Given the description of an element on the screen output the (x, y) to click on. 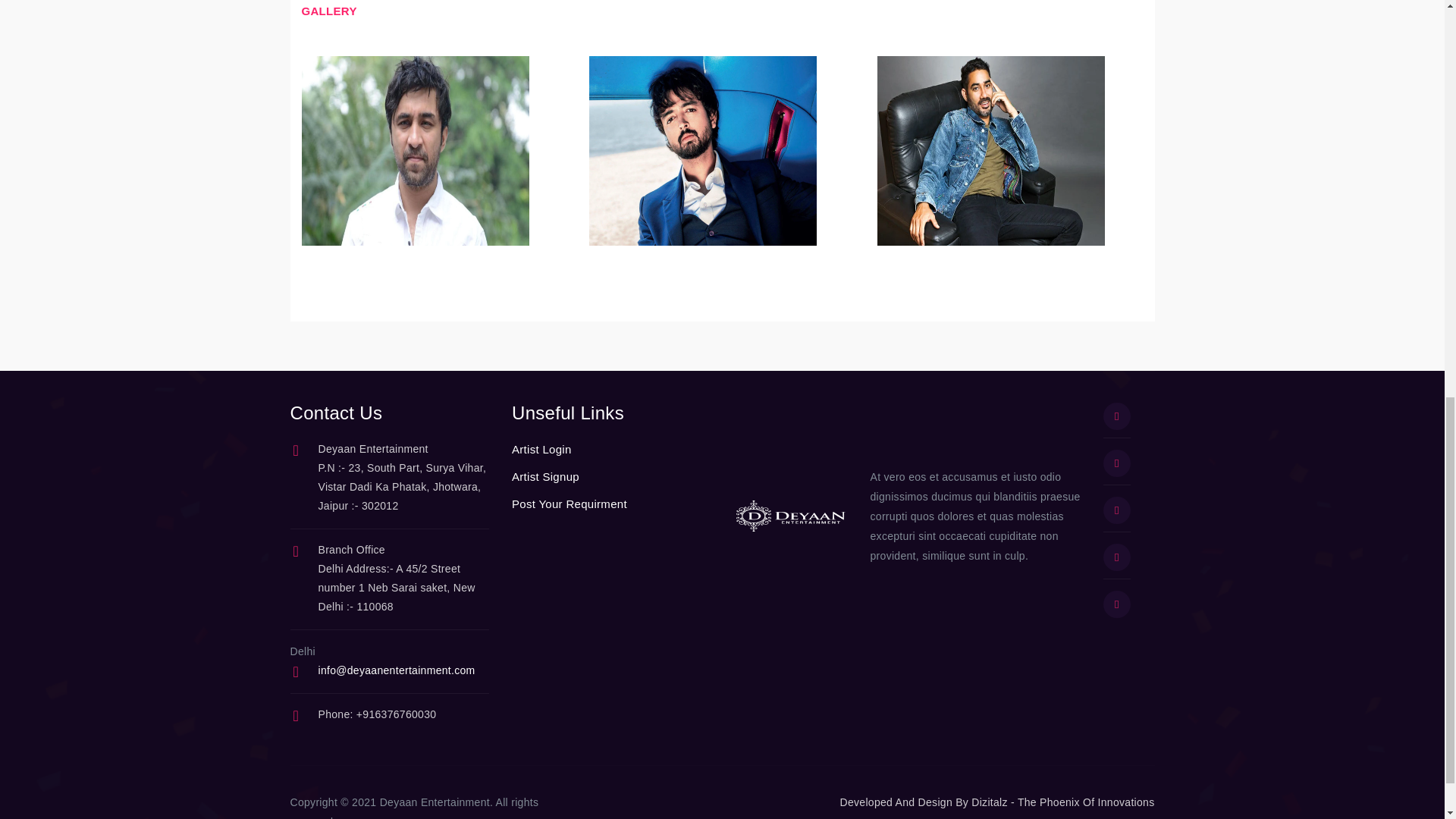
Artist Signup (545, 476)
Post Your Requirment (569, 504)
Artist Login (542, 449)
